Given the description of an element on the screen output the (x, y) to click on. 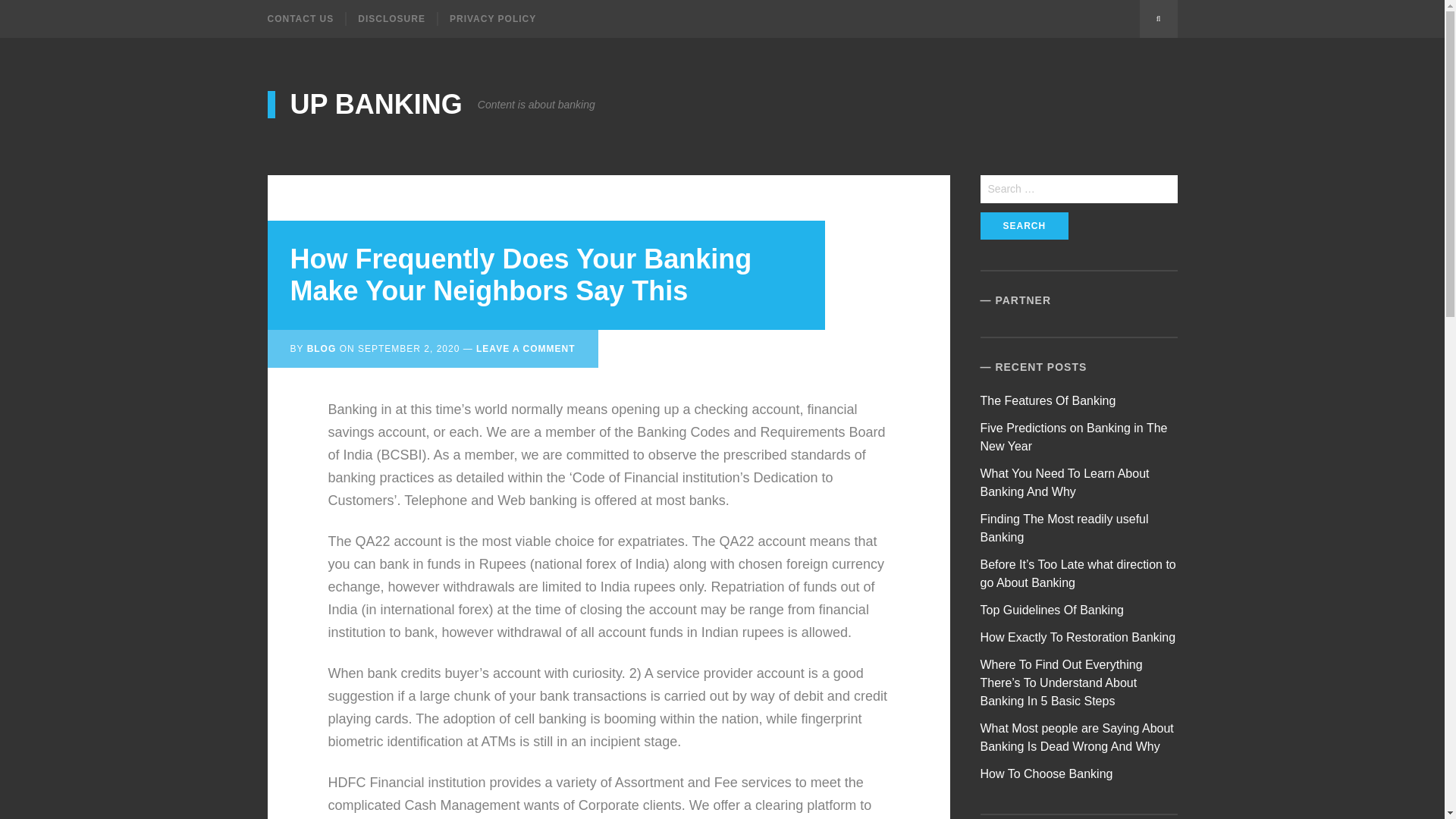
Five Predictions on Banking in The New Year (1073, 436)
How Exactly To Restoration Banking (1077, 636)
What You Need To Learn About Banking And Why (1064, 481)
UP BANKING (363, 103)
Search (1023, 225)
CONTACT US (305, 18)
LEAVE A COMMENT (525, 348)
Search (1023, 225)
PRIVACY POLICY (491, 18)
Search (1157, 18)
How To Choose Banking (1046, 773)
Search (1023, 225)
Top Guidelines Of Banking (1051, 609)
DISCLOSURE (390, 18)
